Given the description of an element on the screen output the (x, y) to click on. 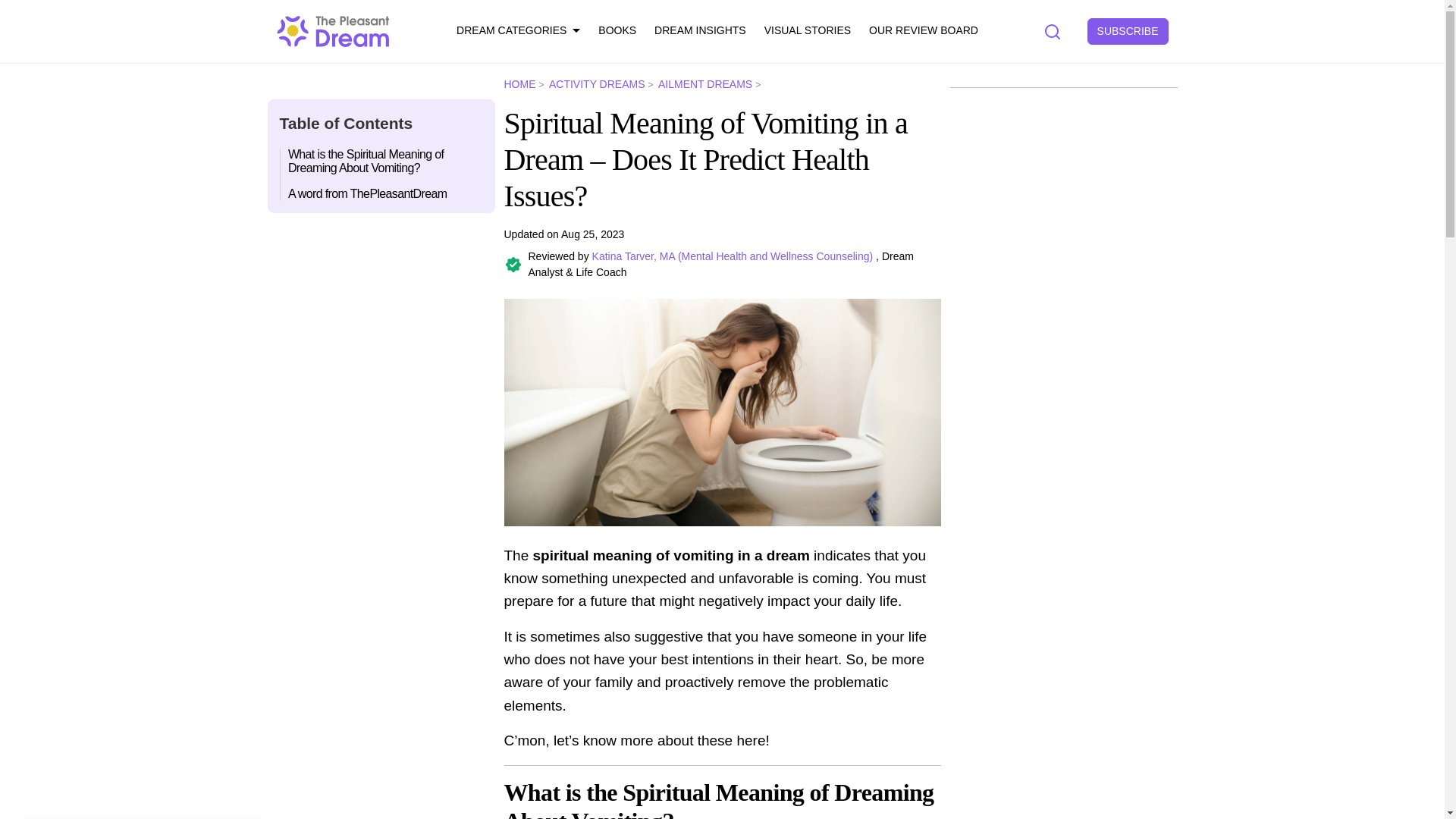
OUR REVIEW BOARD (923, 31)
ACTIVITY DREAMS (601, 83)
AILMENT DREAMS (709, 83)
ThePleasantDream (333, 30)
SUBSCRIBE (1128, 31)
DREAM INSIGHTS (699, 31)
VISUAL STORIES (807, 31)
BOOKS (617, 31)
DREAM CATEGORIES (518, 31)
A word from ThePleasantDream (382, 189)
